Given the description of an element on the screen output the (x, y) to click on. 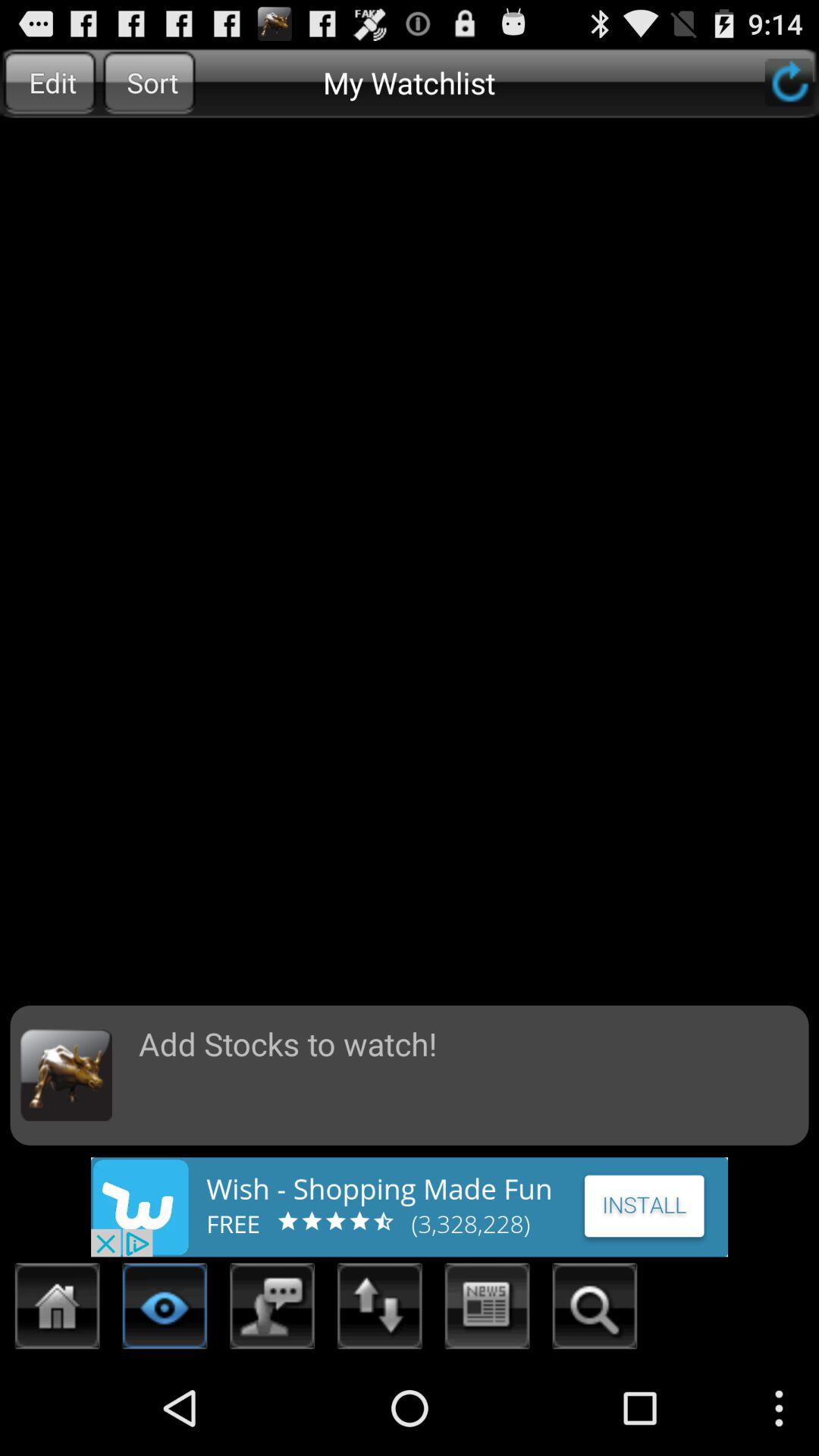
reloads the page (788, 82)
